Given the description of an element on the screen output the (x, y) to click on. 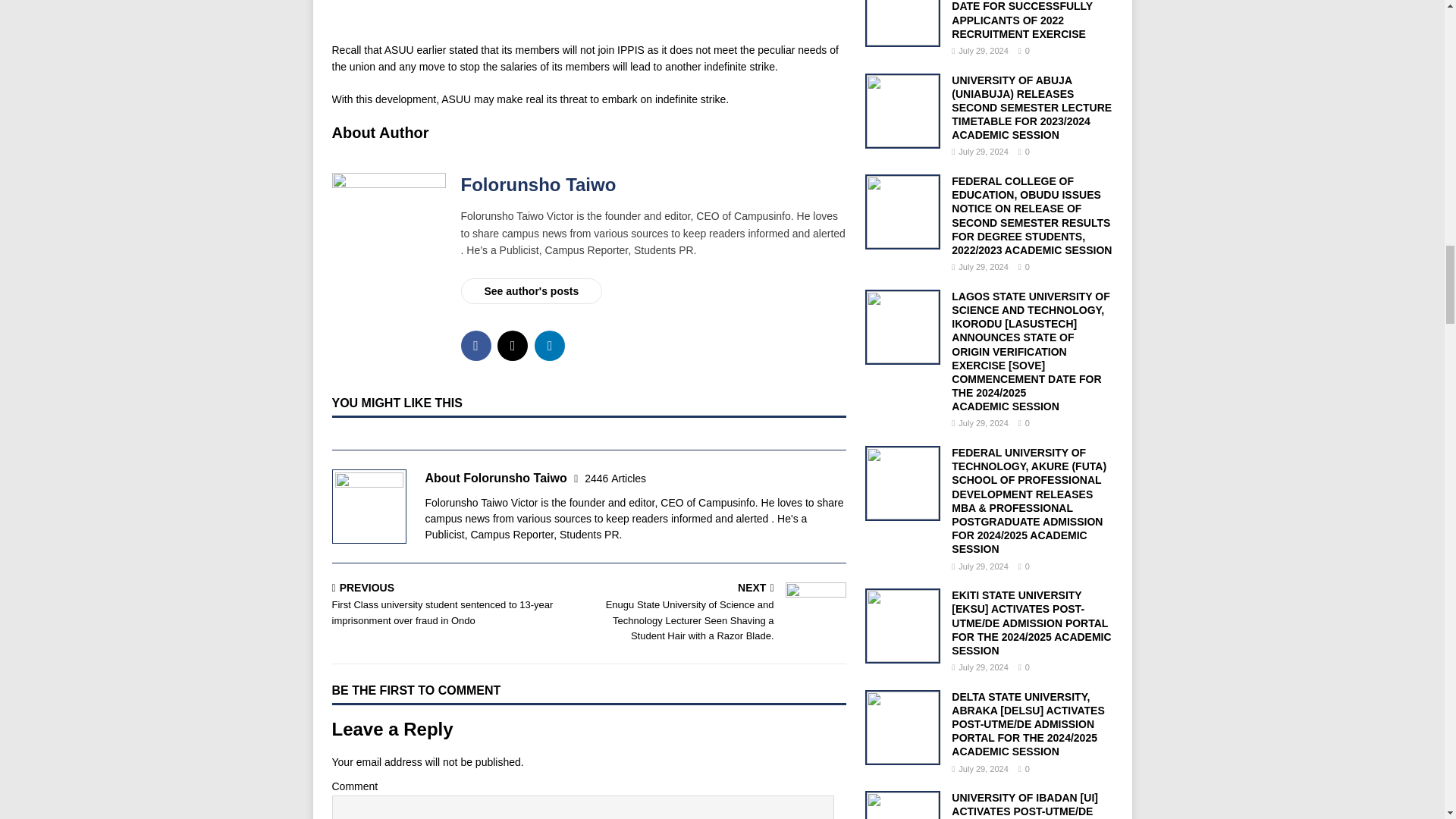
See author's posts (531, 290)
Folorunsho Taiwo (538, 184)
2446 Articles (615, 478)
More articles written by Folorunsho Taiwo' (615, 478)
